Given the description of an element on the screen output the (x, y) to click on. 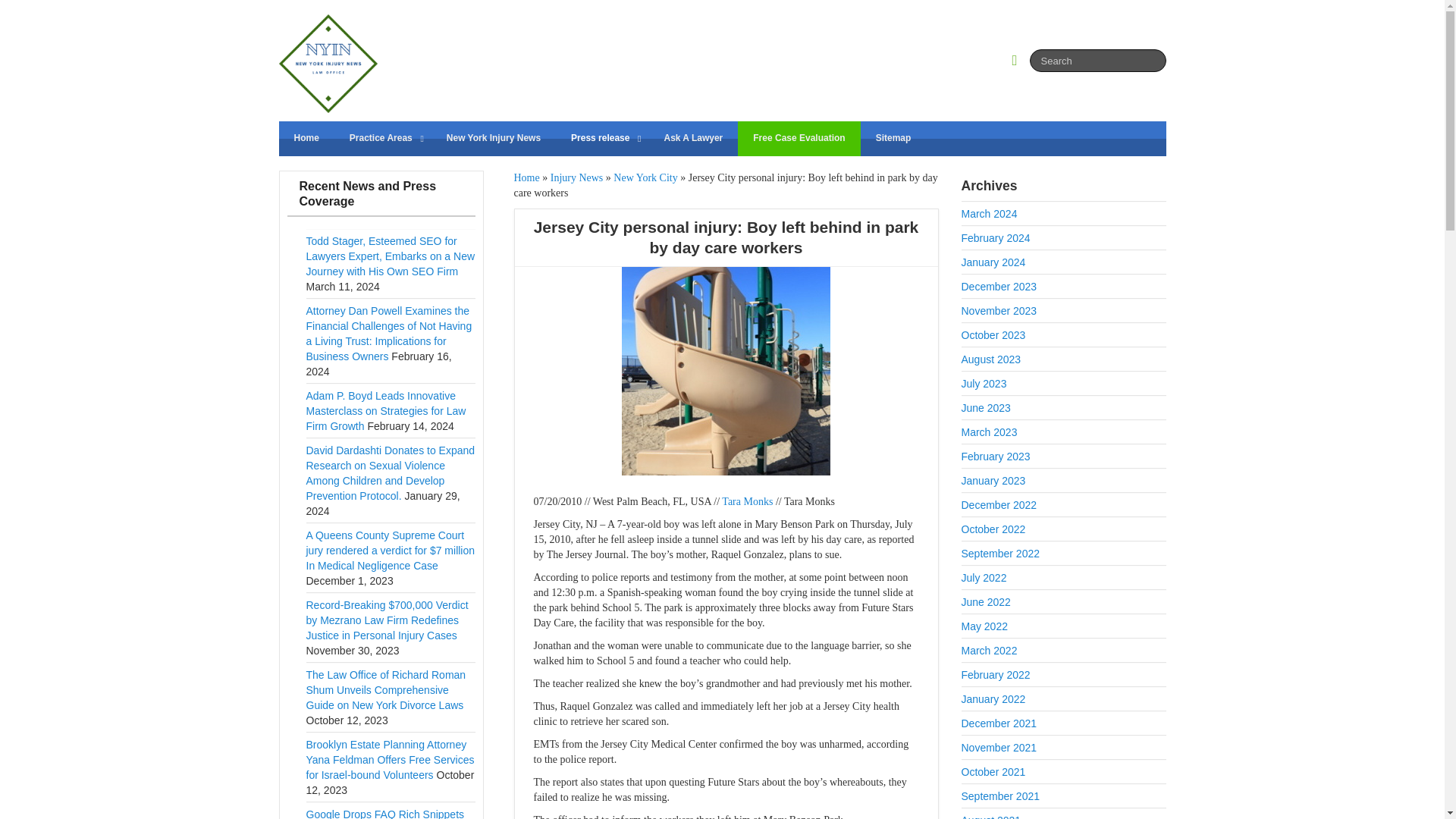
New York Injury News (493, 138)
Home (306, 138)
Tara Monks (747, 501)
Home (526, 177)
Press release (601, 138)
Subscribe to our RSS Feed (1019, 59)
Ask A Lawyer (692, 138)
Sitemap (893, 138)
Free Case Evaluation (799, 138)
Practice Areas (382, 138)
Injury News (577, 177)
New York City (644, 177)
